Given the description of an element on the screen output the (x, y) to click on. 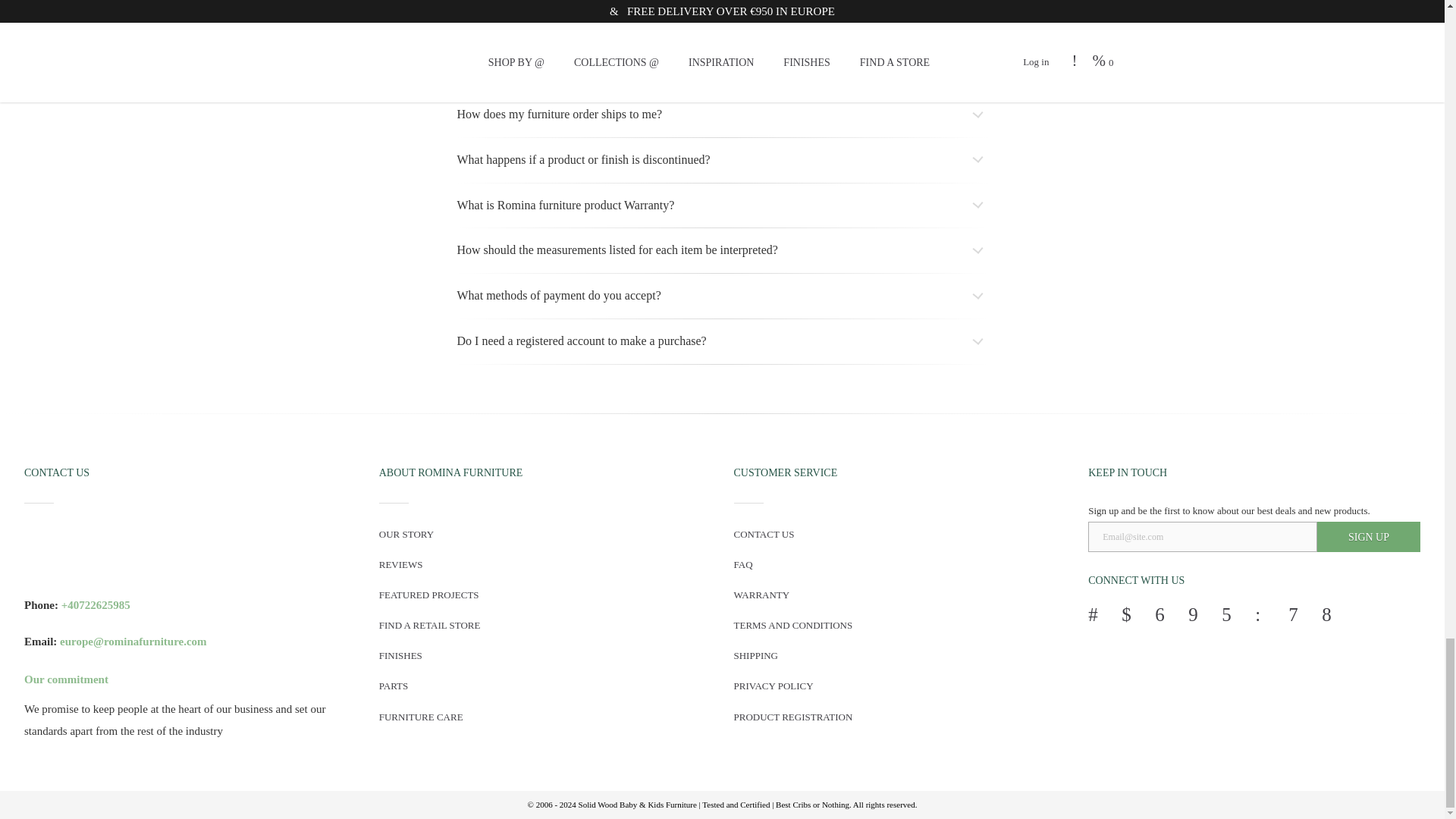
SIGN UP (1369, 536)
